Given the description of an element on the screen output the (x, y) to click on. 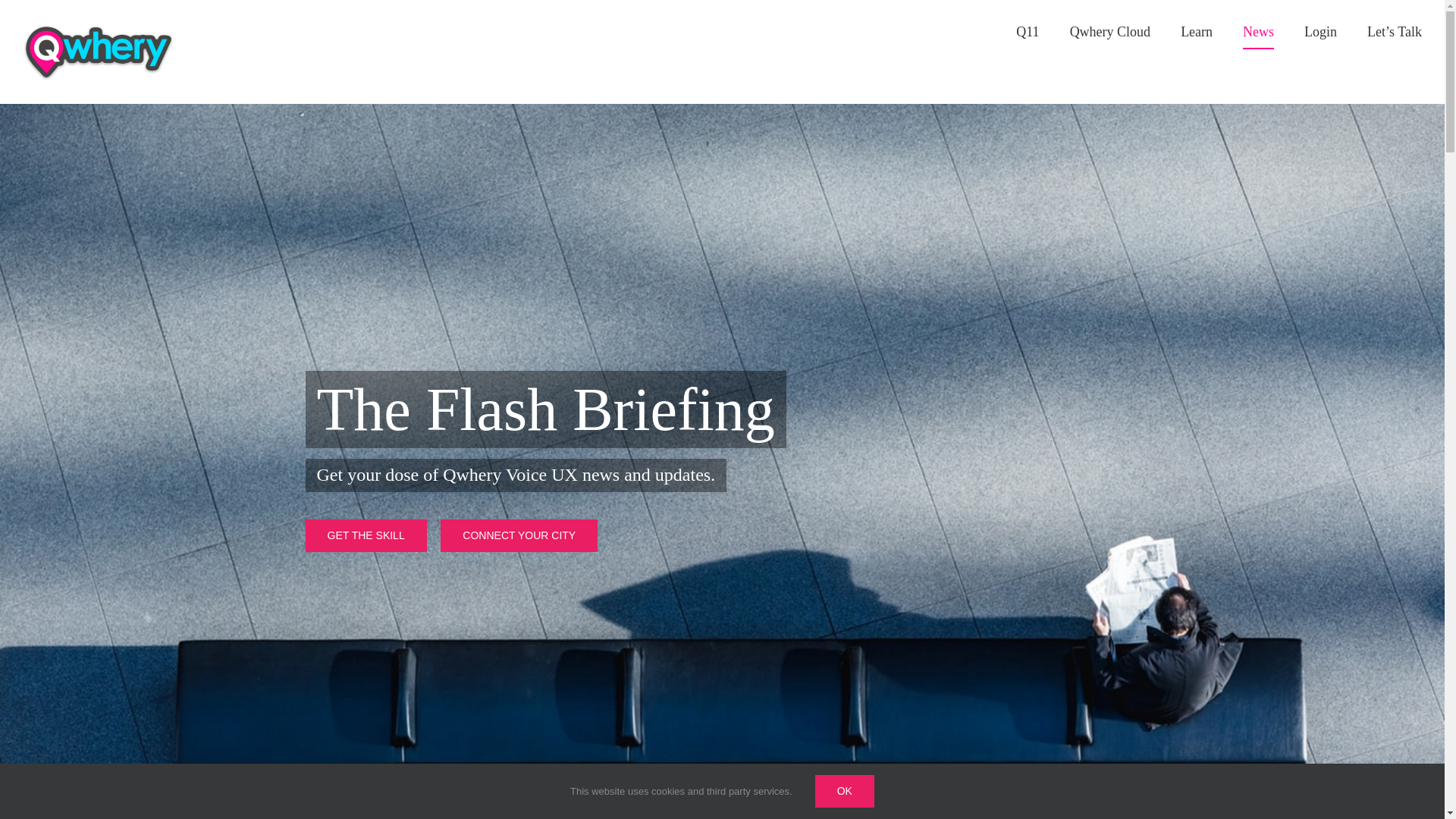
Qwhery Cloud (1110, 31)
GET THE SKILL (365, 535)
CONNECT YOUR CITY (518, 535)
